Given the description of an element on the screen output the (x, y) to click on. 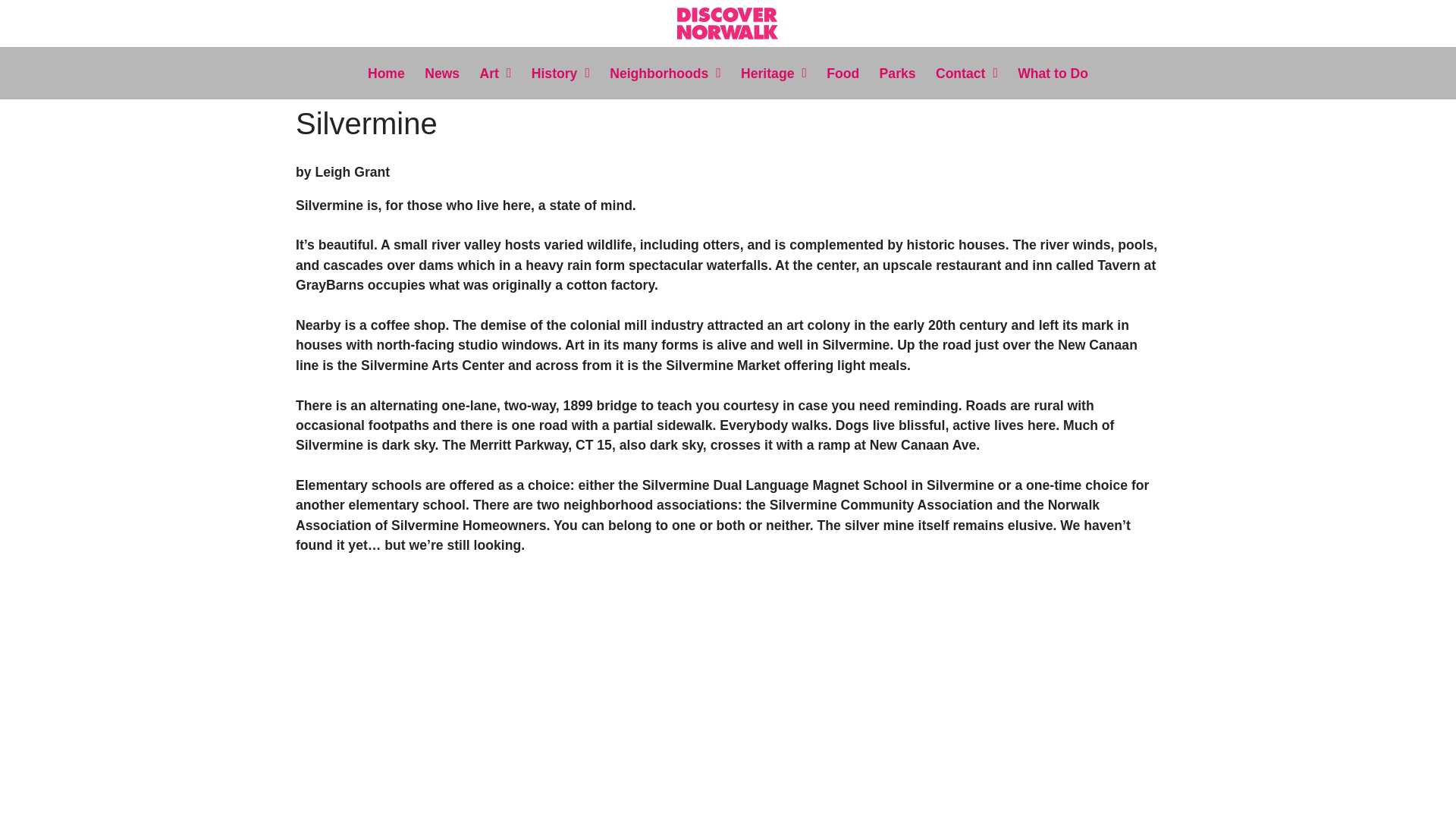
History (560, 72)
Art (495, 72)
News (441, 72)
Food (842, 72)
What to Do (1052, 72)
Parks (897, 72)
Contact (966, 72)
Neighborhoods (664, 72)
Heritage (772, 72)
Home (385, 72)
